Given the description of an element on the screen output the (x, y) to click on. 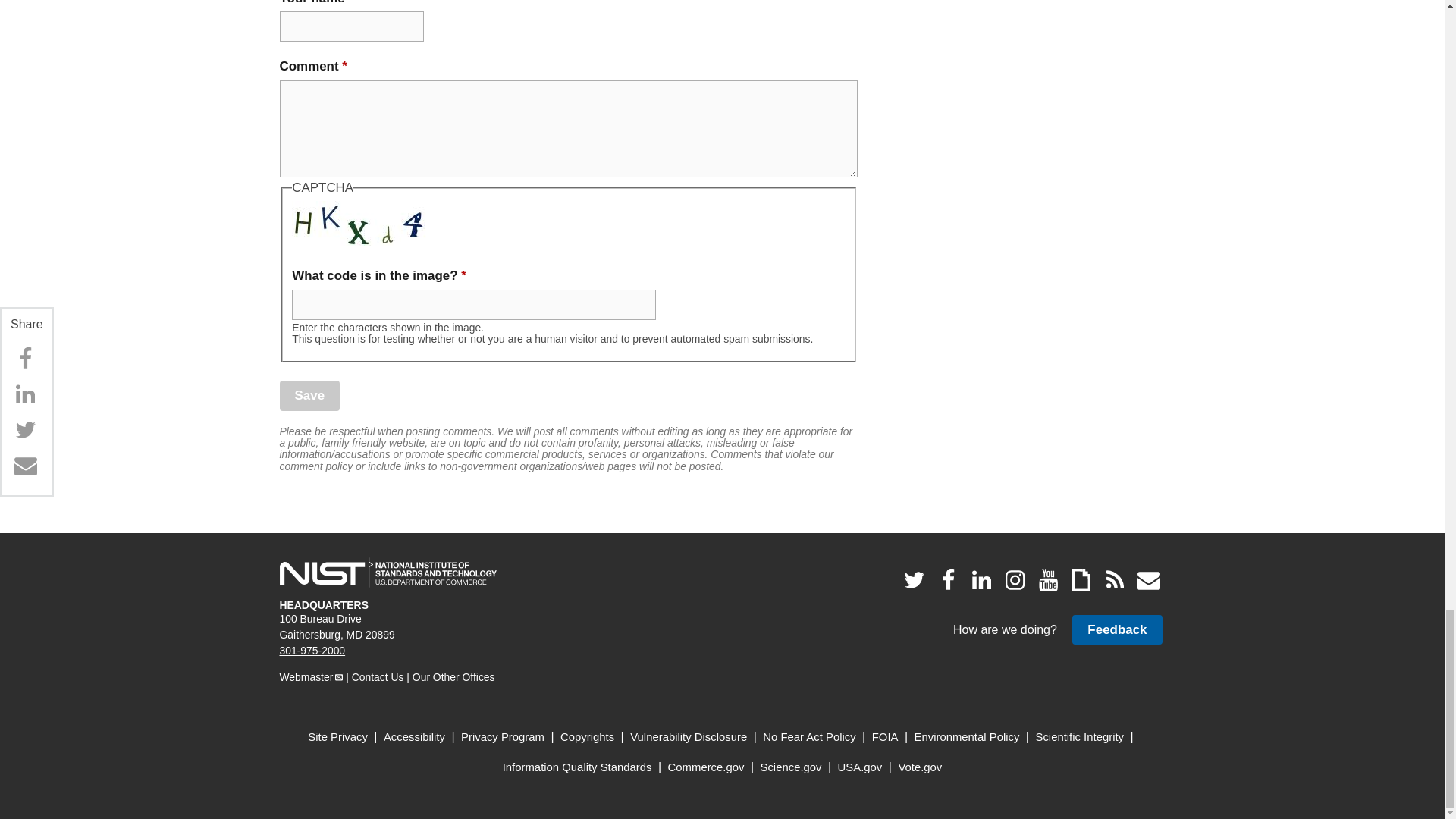
Provide feedback (1116, 629)
Save (309, 395)
Image CAPTCHA (360, 223)
Save (309, 395)
National Institute of Standards and Technology (387, 572)
